Given the description of an element on the screen output the (x, y) to click on. 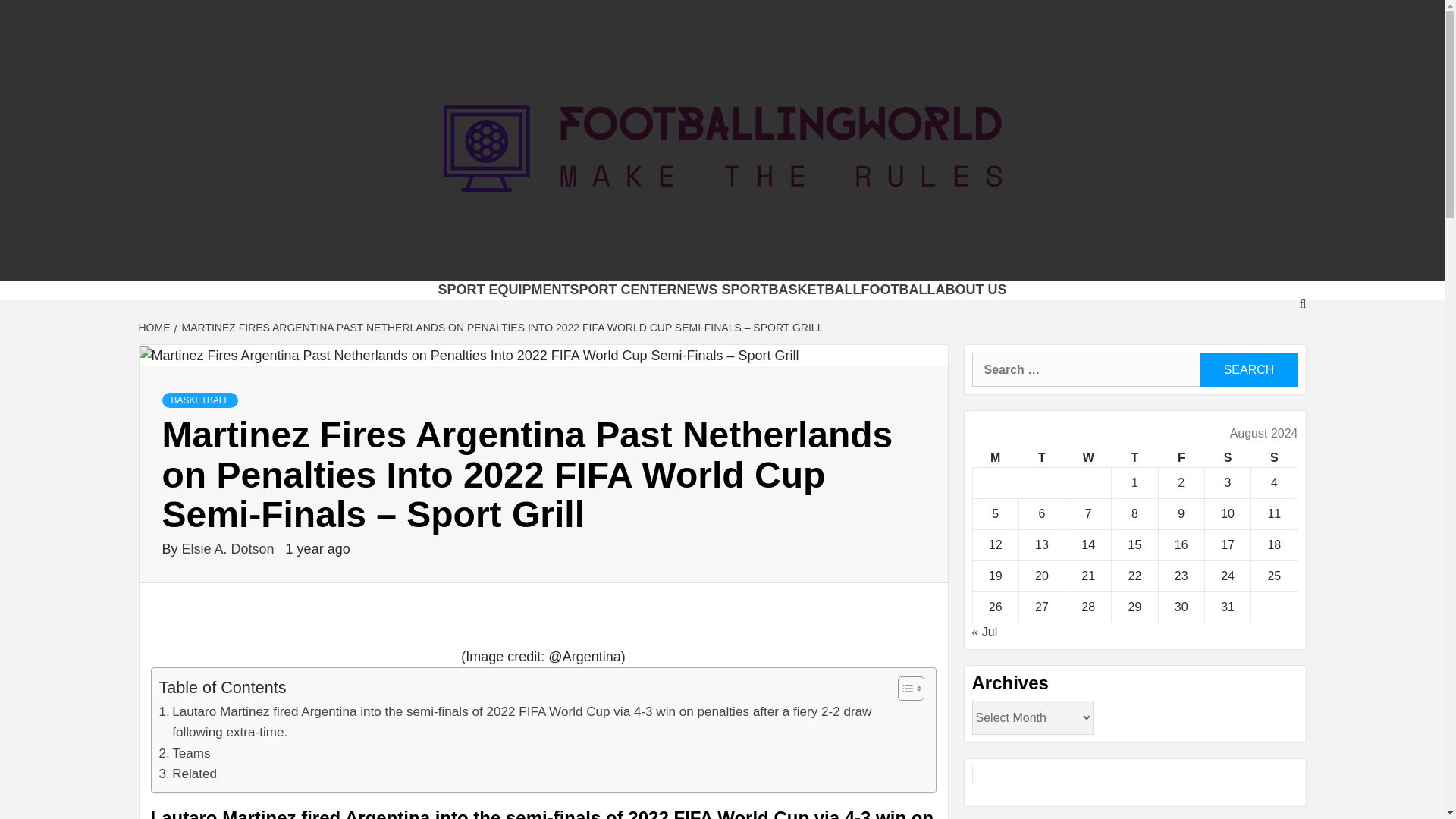
SPORT EQUIPMENT (503, 289)
BASKETBALL (814, 289)
Thursday (1134, 457)
NEWS SPORT (722, 289)
Search (1248, 369)
HOME (155, 327)
Friday (1180, 457)
SPORT CENTER (623, 289)
BASKETBALL (199, 400)
Teams (184, 752)
FOOTBALLINGWORLD (558, 262)
Sunday (1273, 457)
Monday (994, 457)
ABOUT US (971, 289)
